Given the description of an element on the screen output the (x, y) to click on. 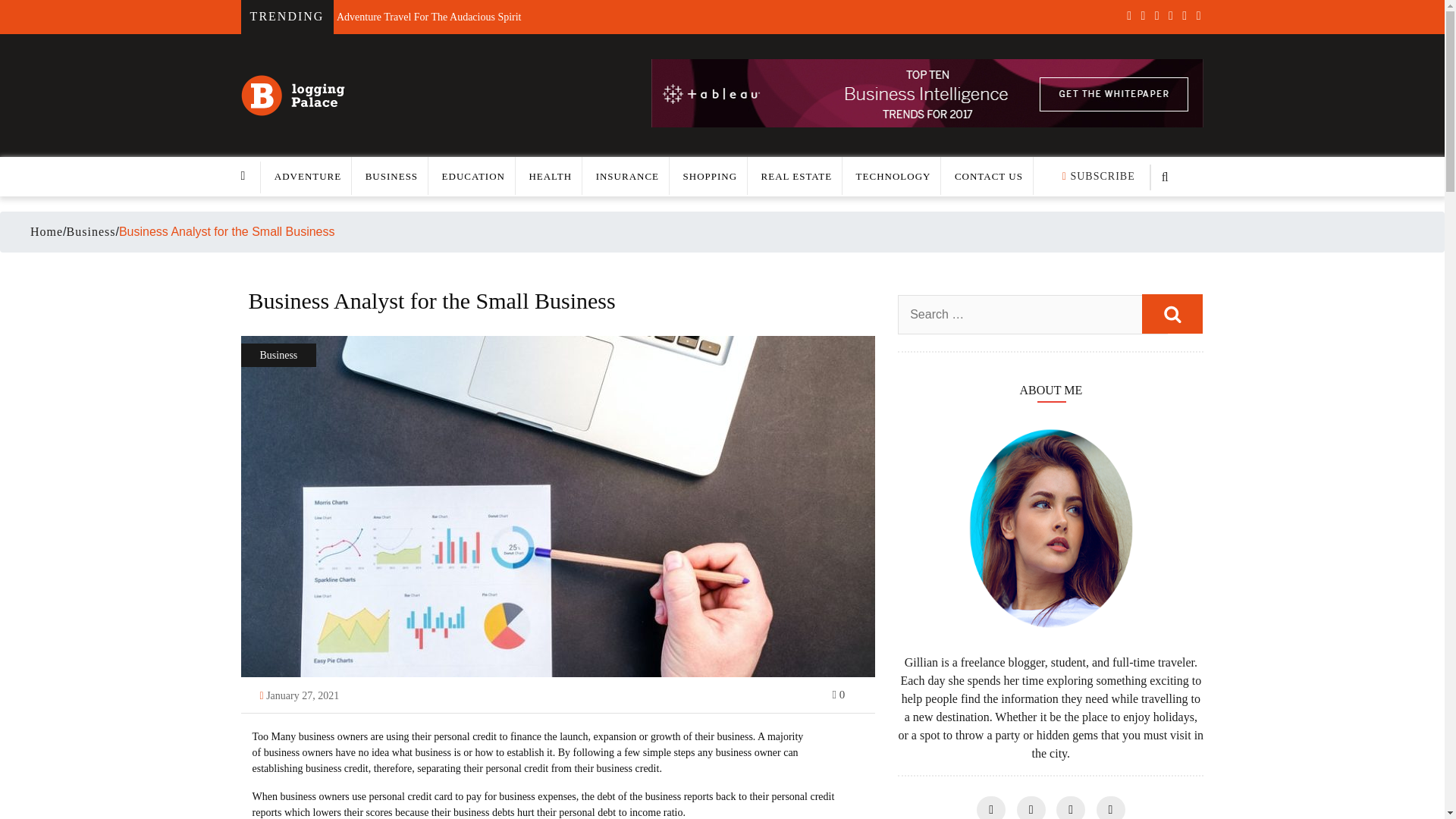
ADVENTURE (307, 175)
Adventure Travel For The Audacious Spirit (428, 12)
REAL ESTATE (796, 175)
SHOPPING (710, 175)
CONTACT US (989, 175)
Business (91, 231)
Home (46, 231)
HEALTH (550, 175)
EDUCATION (473, 175)
TECHNOLOGY (893, 175)
